Given the description of an element on the screen output the (x, y) to click on. 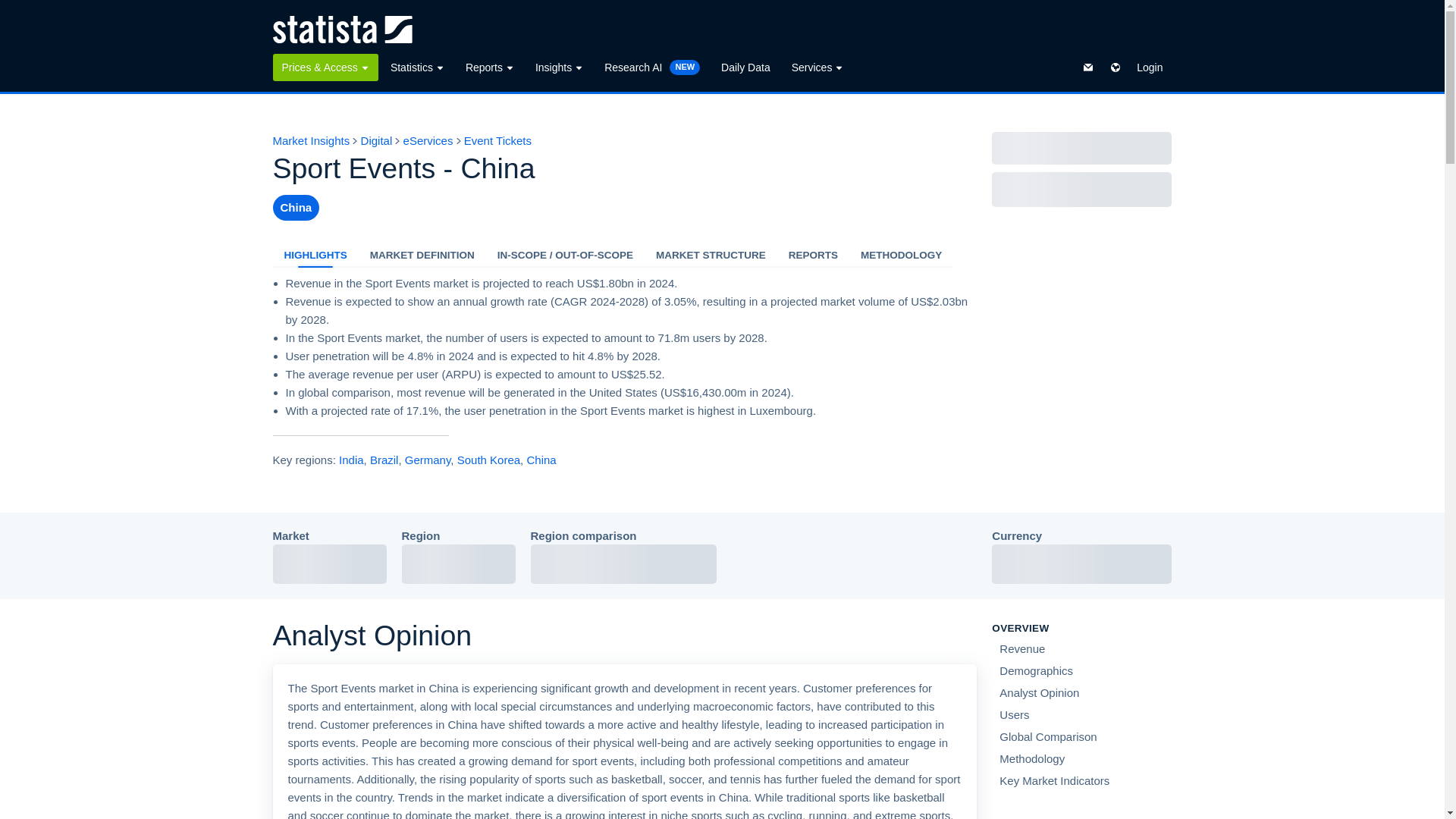
Skip to main content (12, 9)
Reports (489, 67)
Login (1149, 67)
Login (1149, 67)
Statistics (416, 67)
